Given the description of an element on the screen output the (x, y) to click on. 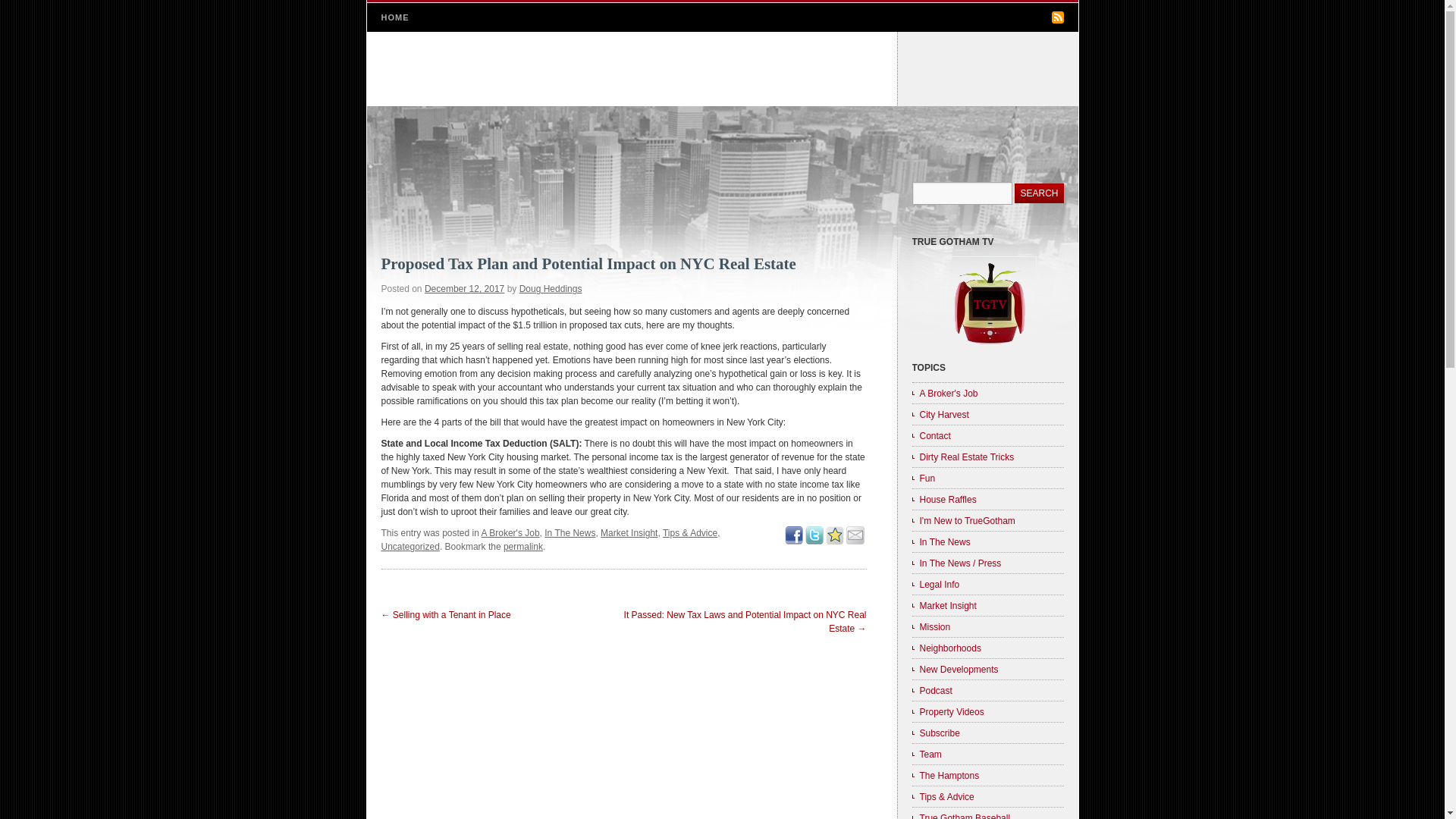
The Hamptons (986, 774)
Podcast (986, 690)
True Gotham TV (988, 345)
Fun (986, 477)
A Broker's Job (986, 392)
Market Insight (986, 605)
HOME (394, 17)
Dirty Real Estate Tricks (986, 456)
Neighborhoods (986, 647)
home (721, 68)
In The News (569, 532)
Property Videos (986, 711)
permalink (523, 546)
